Given the description of an element on the screen output the (x, y) to click on. 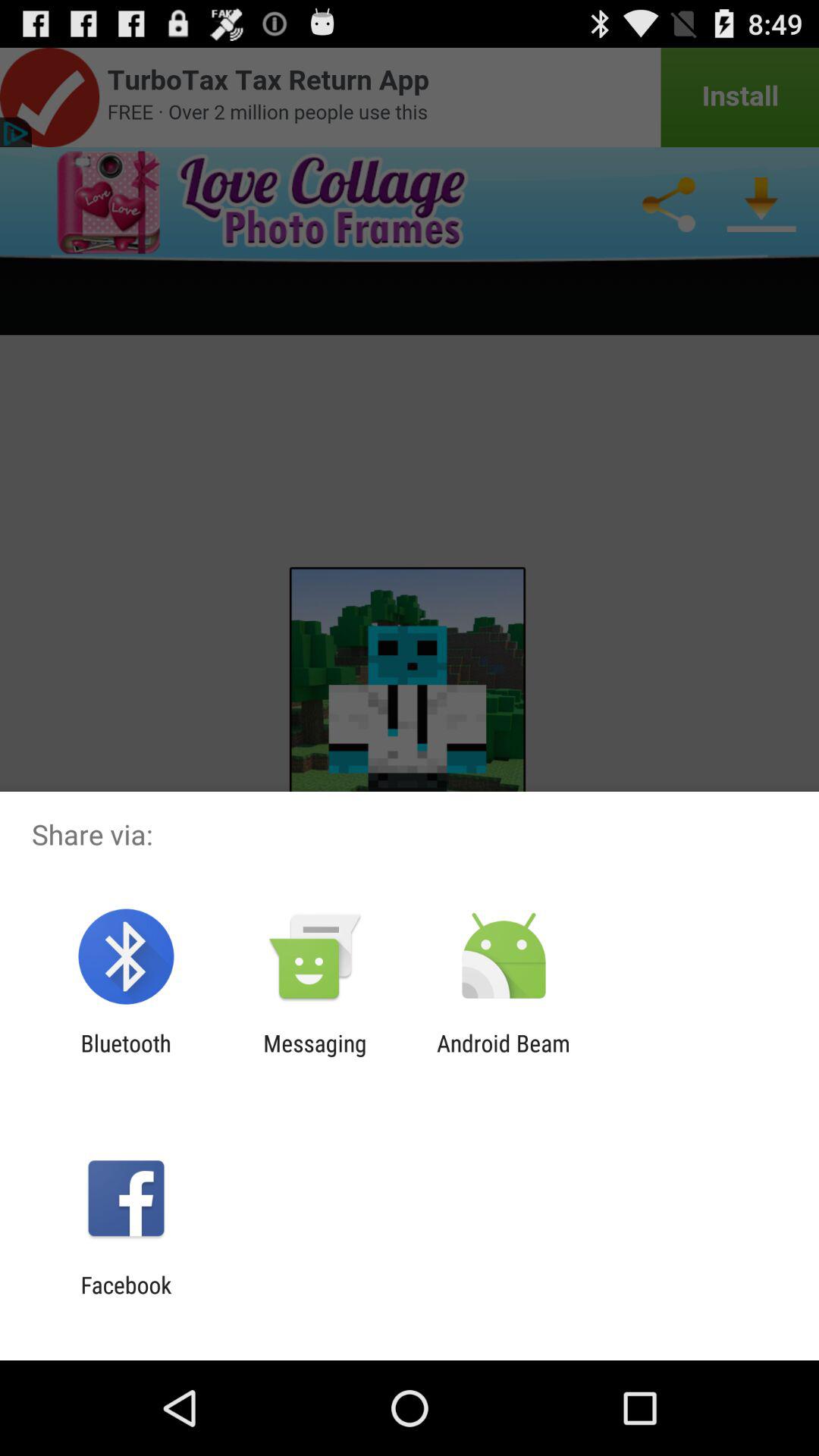
select the messaging item (314, 1056)
